Given the description of an element on the screen output the (x, y) to click on. 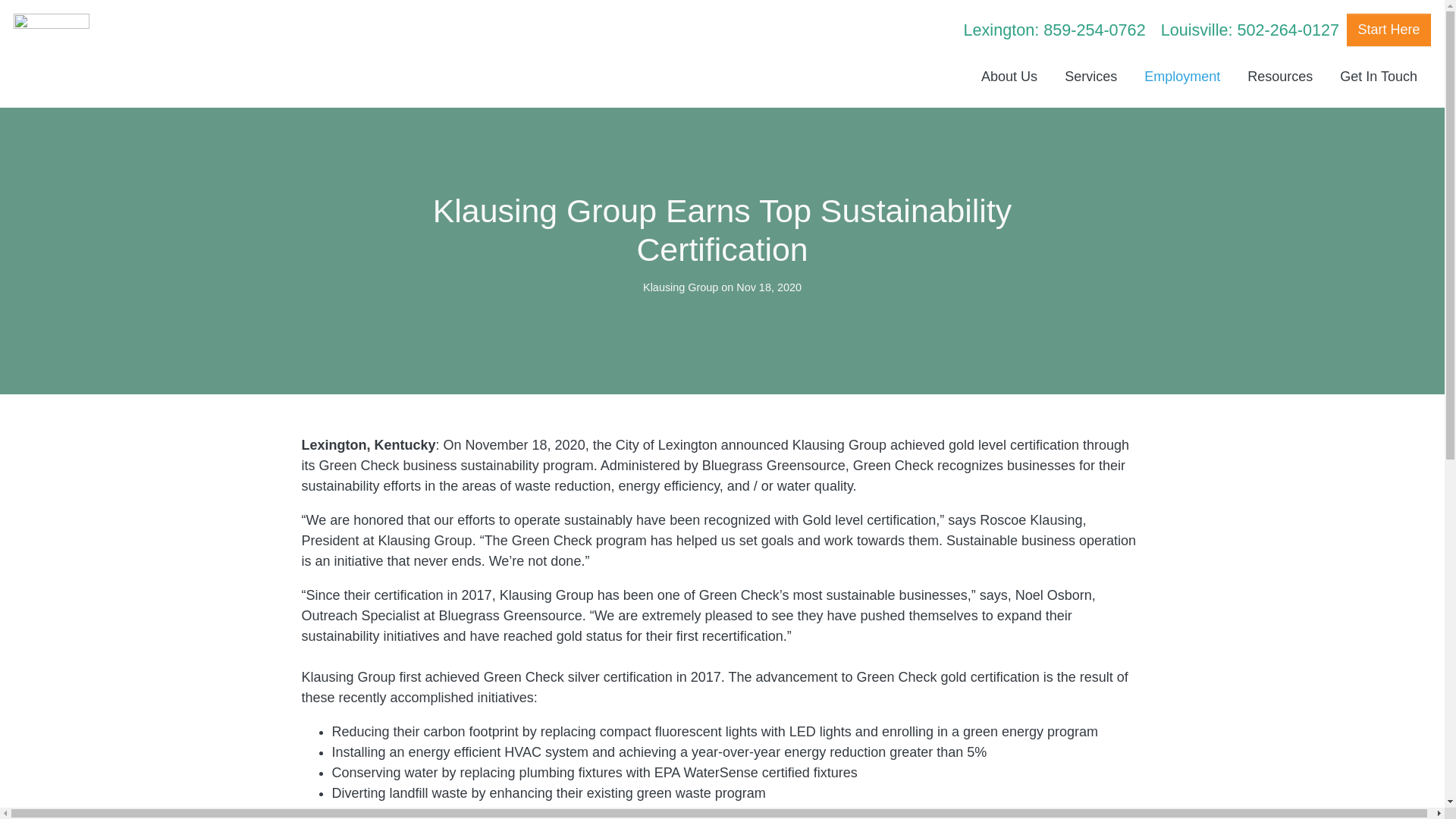
Louisville: 502-264-0127 (1249, 29)
Start Here (1388, 29)
Get In Touch (1378, 76)
Employment (1182, 76)
Services (1091, 76)
About Us (1009, 76)
Resources (1279, 76)
Klausing Group (680, 287)
Lexington: 859-254-0762 (1054, 29)
